Given the description of an element on the screen output the (x, y) to click on. 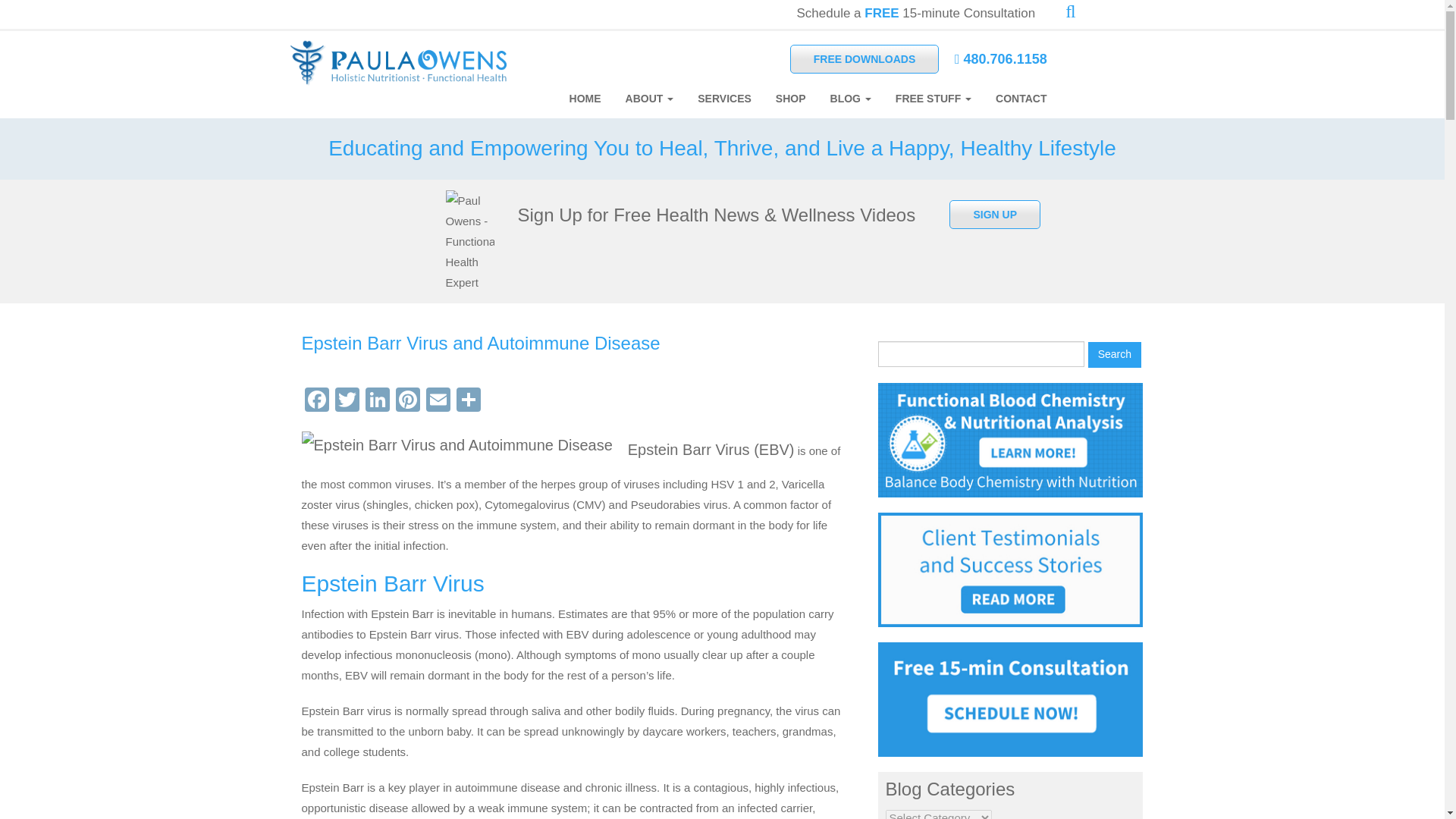
Schedule a FREE 15-minute Consultation (915, 12)
HOME (584, 98)
Home (584, 98)
Search (1114, 354)
About (648, 98)
Twitter (346, 401)
Facebook (316, 401)
FREE STUFF (933, 98)
SHOP (790, 98)
SIGN UP (995, 214)
Services (723, 98)
ABOUT (648, 98)
Shop (790, 98)
SERVICES (723, 98)
BLOG (850, 98)
